Given the description of an element on the screen output the (x, y) to click on. 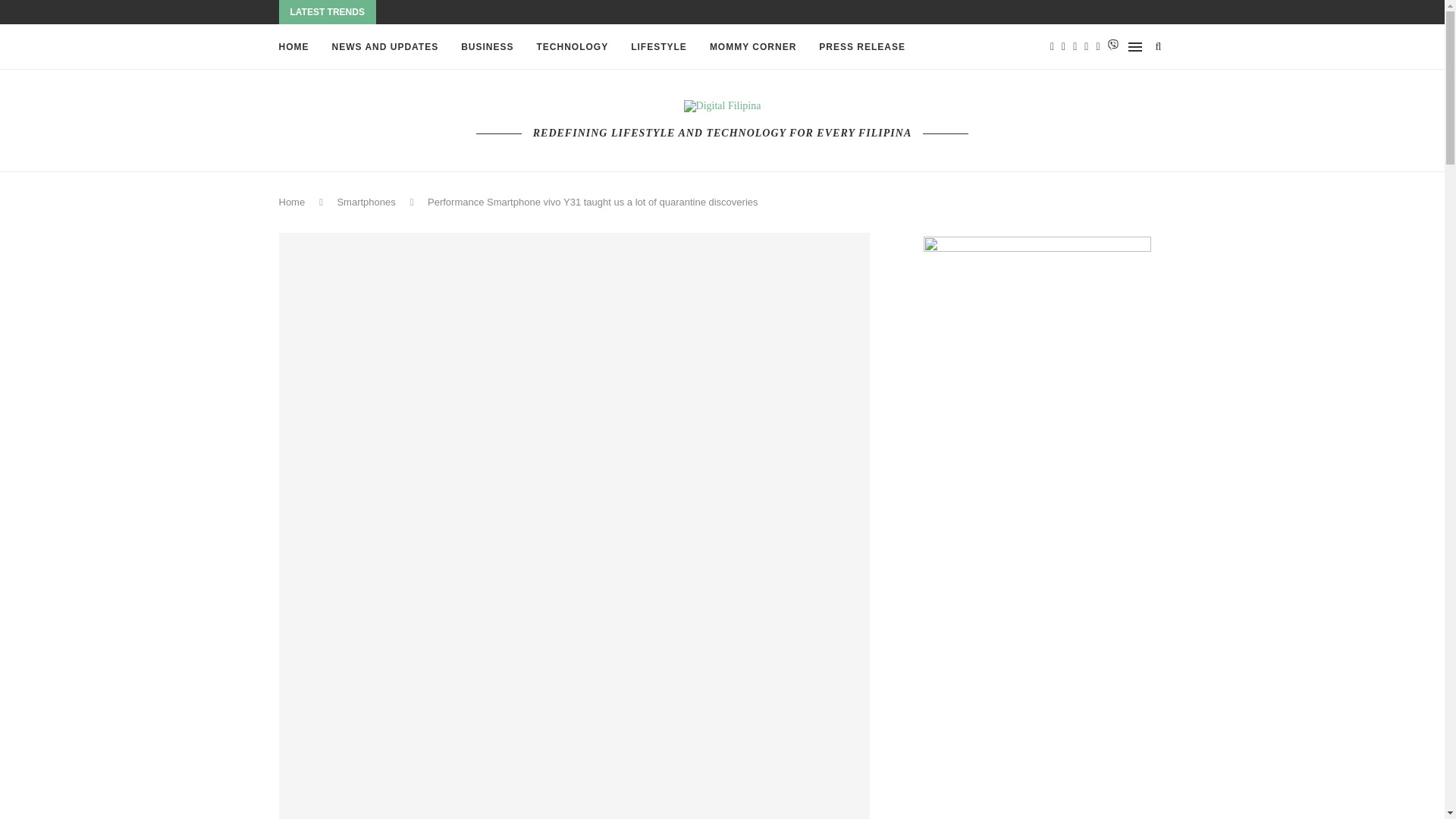
LIFESTYLE (658, 46)
BUSINESS (487, 46)
TECHNOLOGY (572, 46)
PRESS RELEASE (861, 46)
MOMMY CORNER (753, 46)
Advertisement (1037, 791)
NEWS AND UPDATES (385, 46)
